Given the description of an element on the screen output the (x, y) to click on. 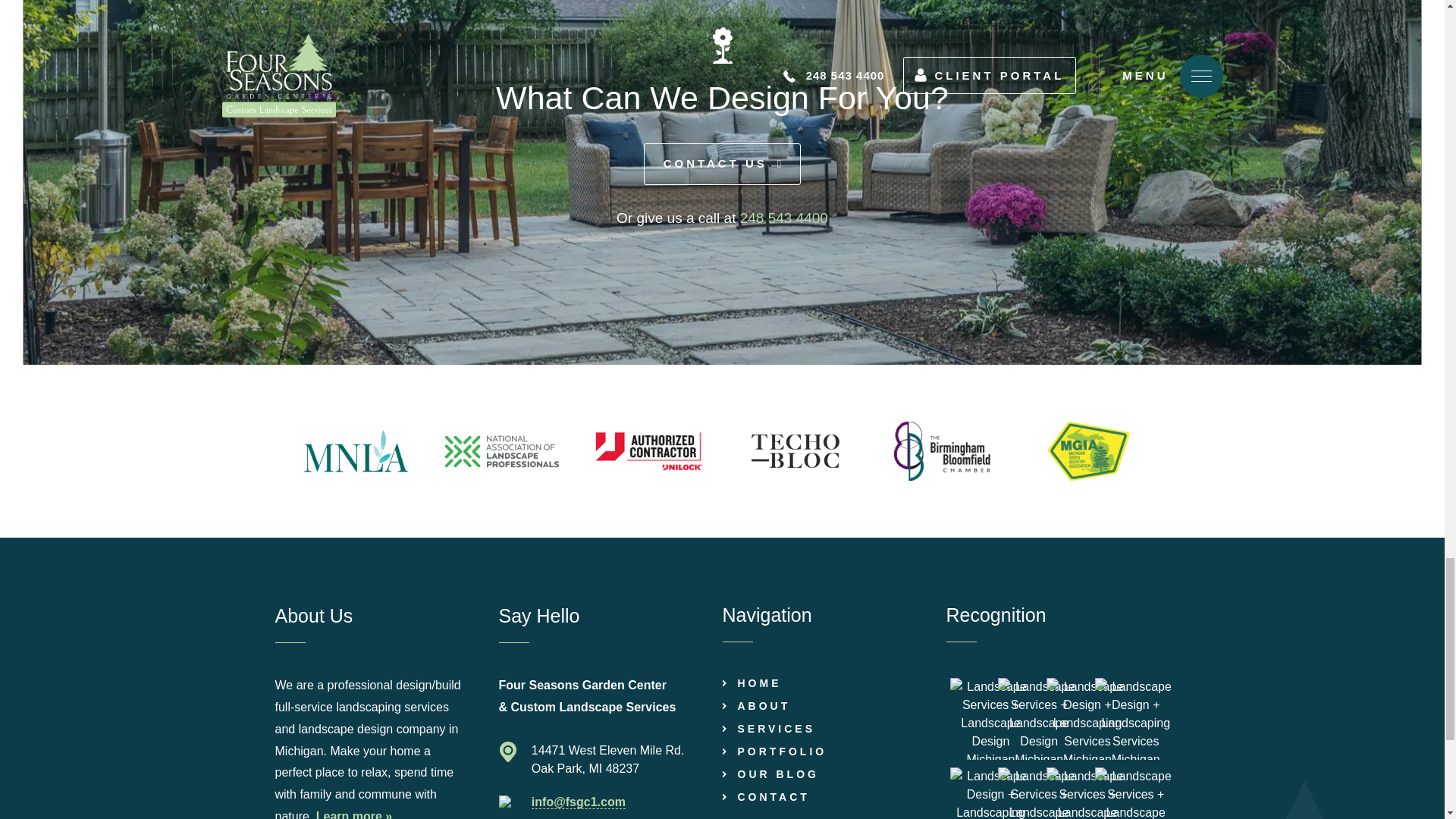
HOME (751, 683)
CONTACT US (722, 164)
ABOUT (756, 706)
OUR BLOG (770, 774)
248 543 4400 (783, 217)
CONTACT (765, 796)
PORTFOLIO (774, 751)
SERVICES (768, 728)
